Given the description of an element on the screen output the (x, y) to click on. 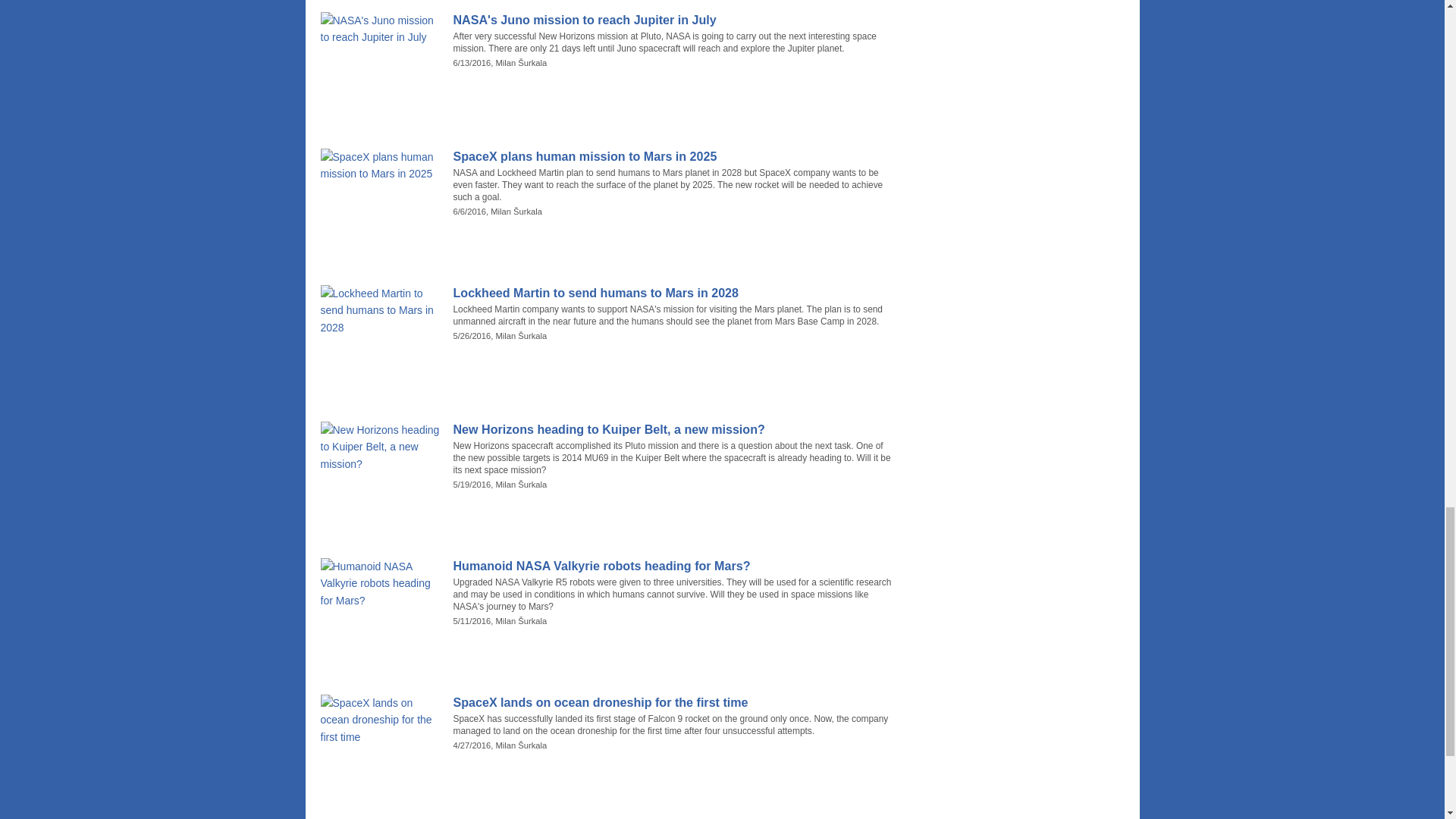
NASA's Juno mission to reach Jupiter in July (674, 19)
SpaceX plans human mission to Mars in 2025 (674, 156)
Humanoid NASA Valkyrie robots heading for Mars? (674, 565)
NASA's Juno mission to reach Jupiter in July (674, 19)
Lockheed Martin to send humans to Mars in 2028 (674, 293)
SpaceX lands on ocean droneship for the first time (674, 702)
SpaceX plans human mission to Mars in 2025 (674, 156)
New Horizons heading to Kuiper Belt, a new mission? (674, 429)
